Given the description of an element on the screen output the (x, y) to click on. 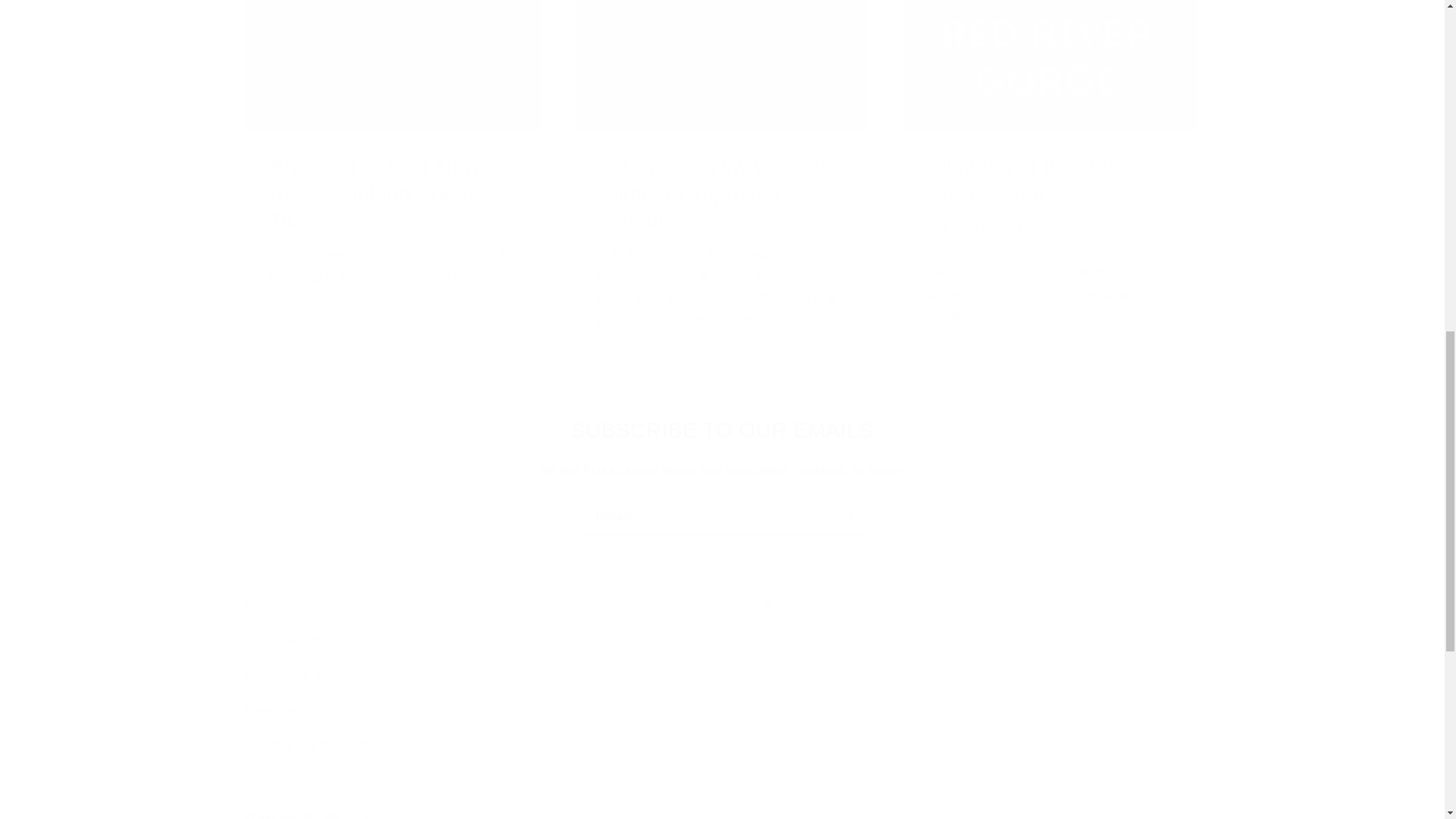
Email (722, 515)
SUBSCRIBE TO OUR EMAILS (722, 429)
Be the first to know about any new deals, updates, or news! (722, 470)
